Given the description of an element on the screen output the (x, y) to click on. 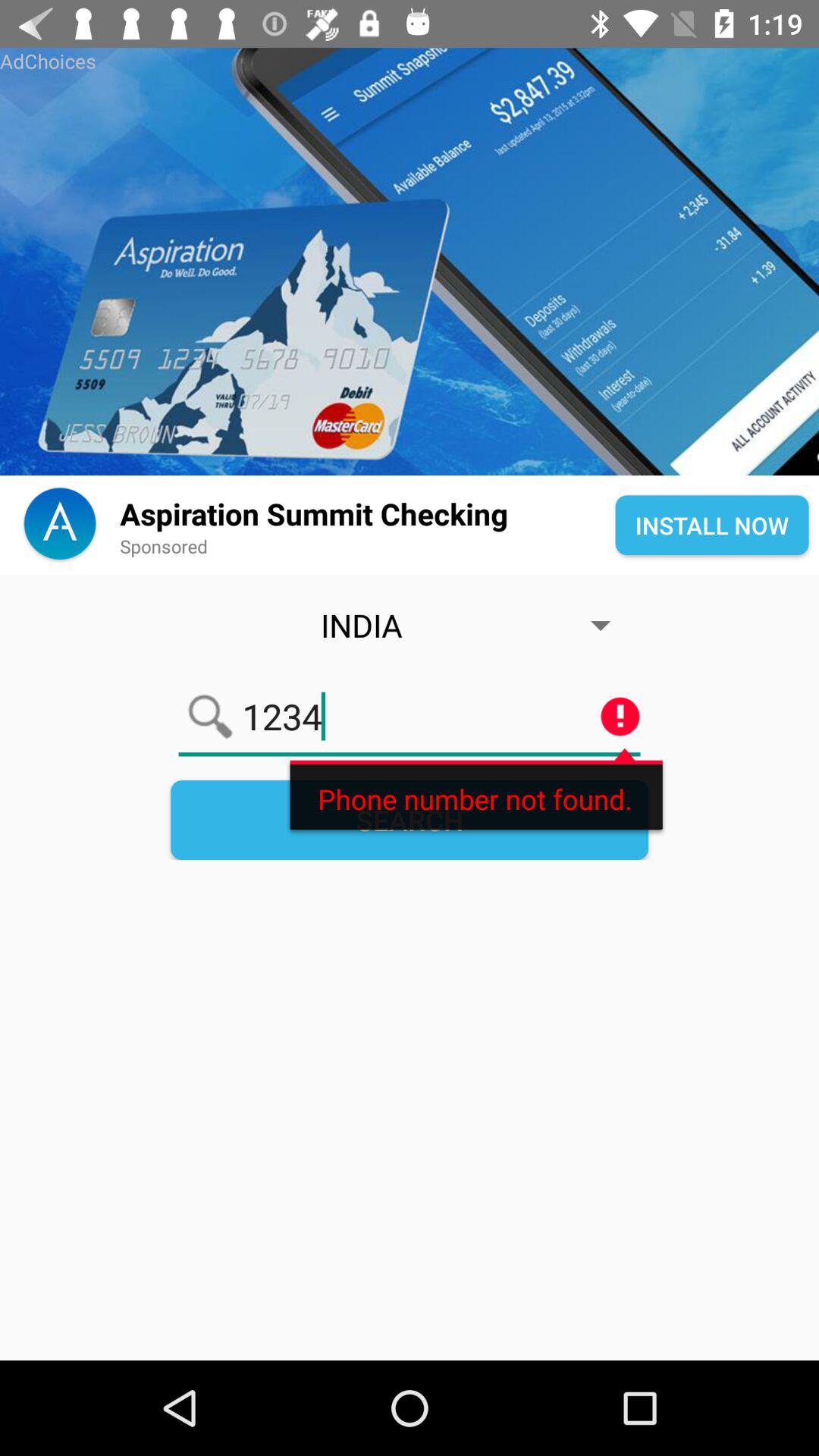
aspiration summet checking advertisement (409, 261)
